Given the description of an element on the screen output the (x, y) to click on. 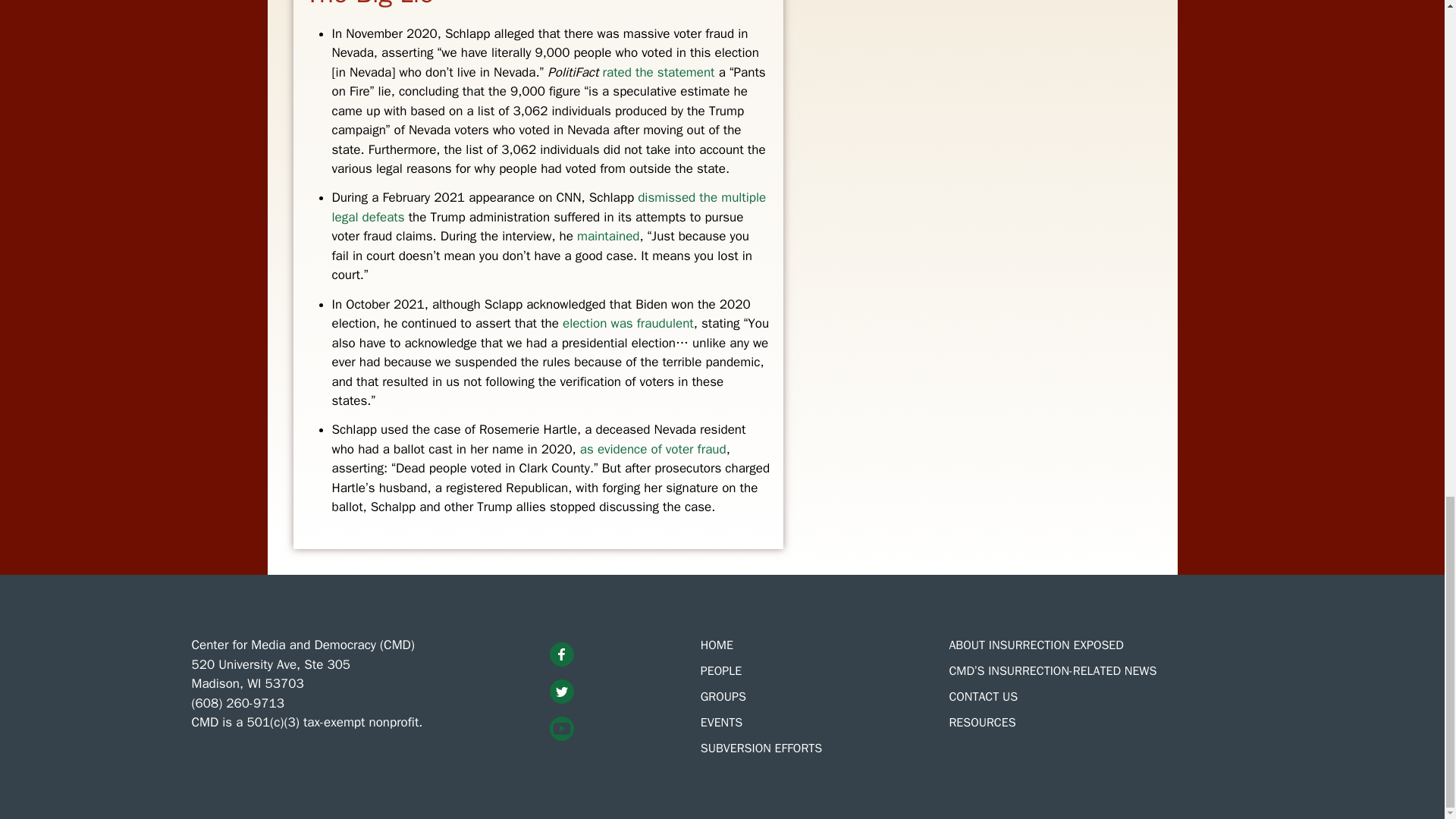
Facebook (561, 654)
Scroll back to top (1406, 260)
Twitter (561, 691)
YouTube (561, 728)
